Given the description of an element on the screen output the (x, y) to click on. 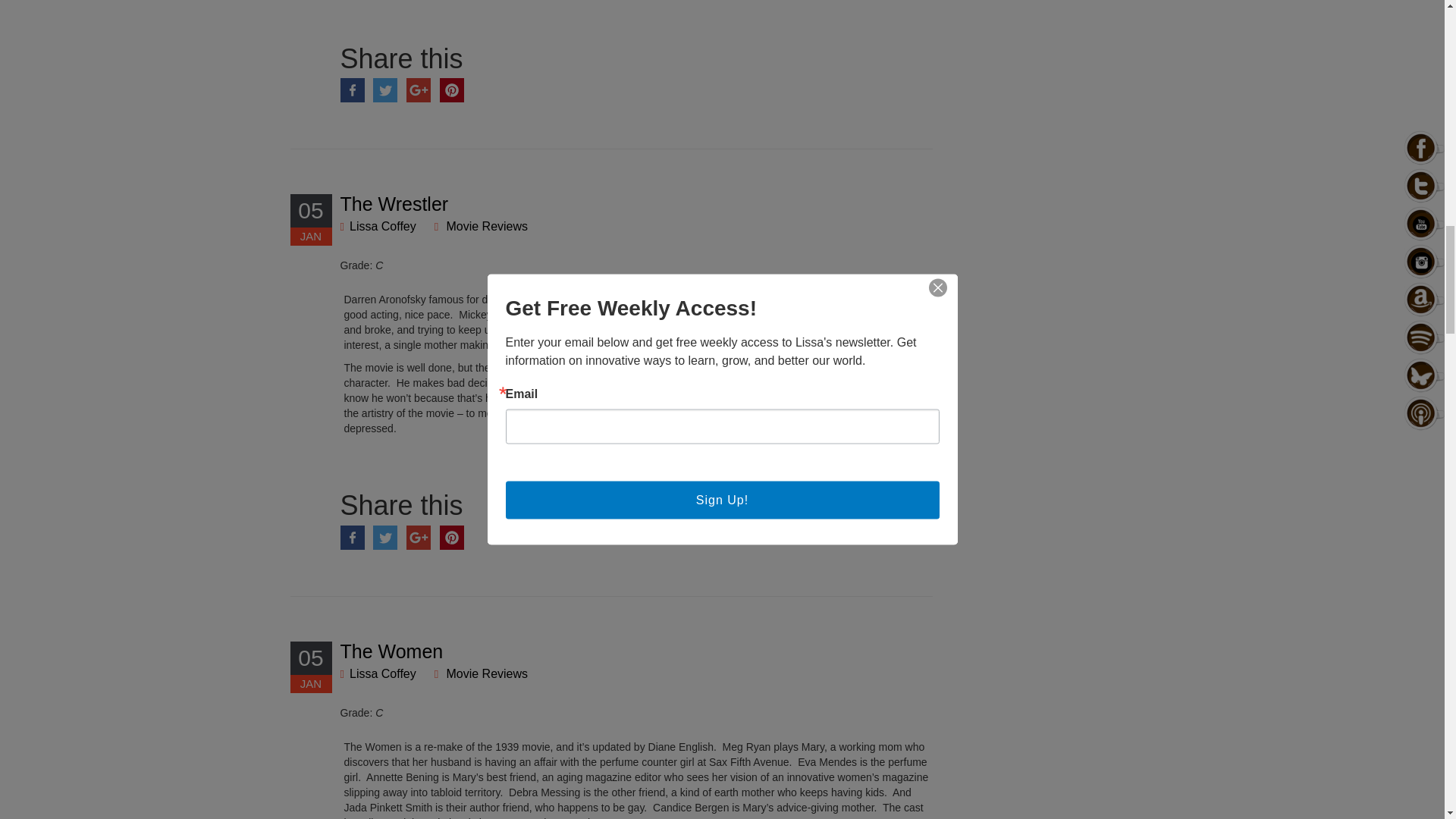
The Women (390, 650)
The Wrestler (393, 203)
